Given the description of an element on the screen output the (x, y) to click on. 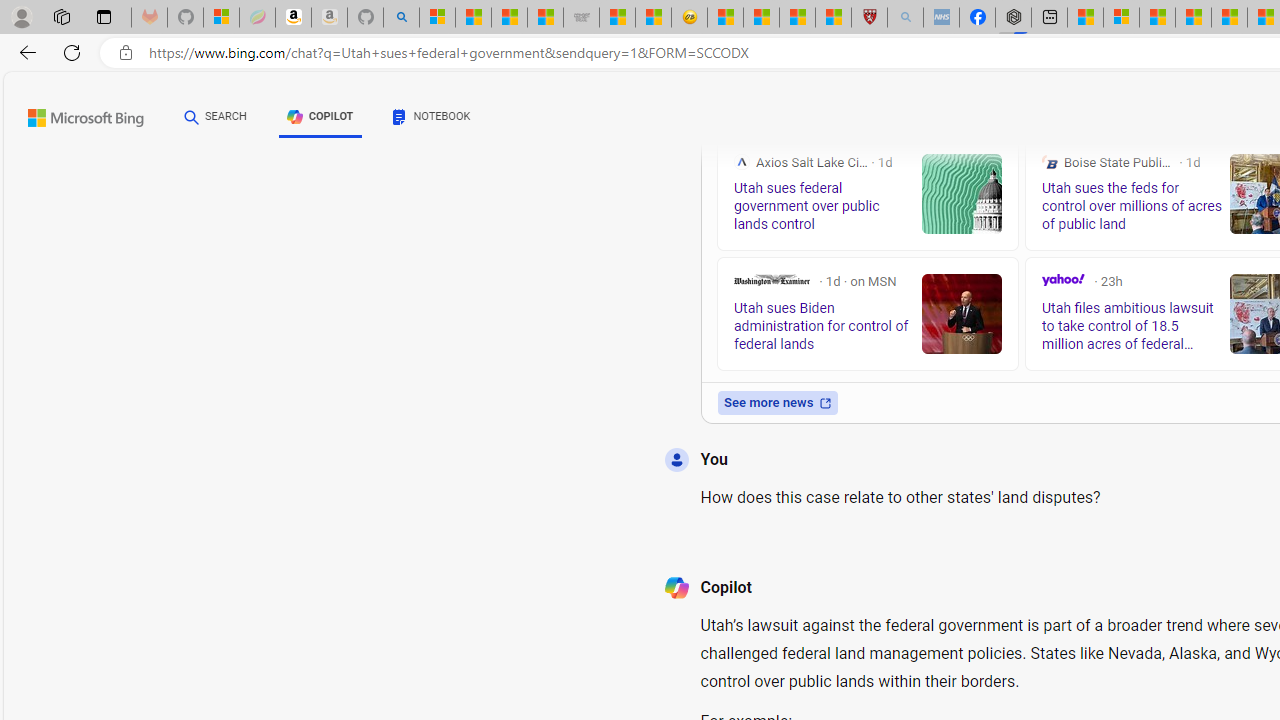
COPILOT (319, 116)
Axios Salt Lake City on MSN (741, 161)
12 Popular Science Lies that Must be Corrected (833, 17)
14 Common Myths Debunked By Scientific Facts (1229, 17)
Washington Examiner on MSN.com (771, 279)
Recipes - MSN (725, 17)
Utah sues Biden administration for control of federal lands (961, 314)
